Given the description of an element on the screen output the (x, y) to click on. 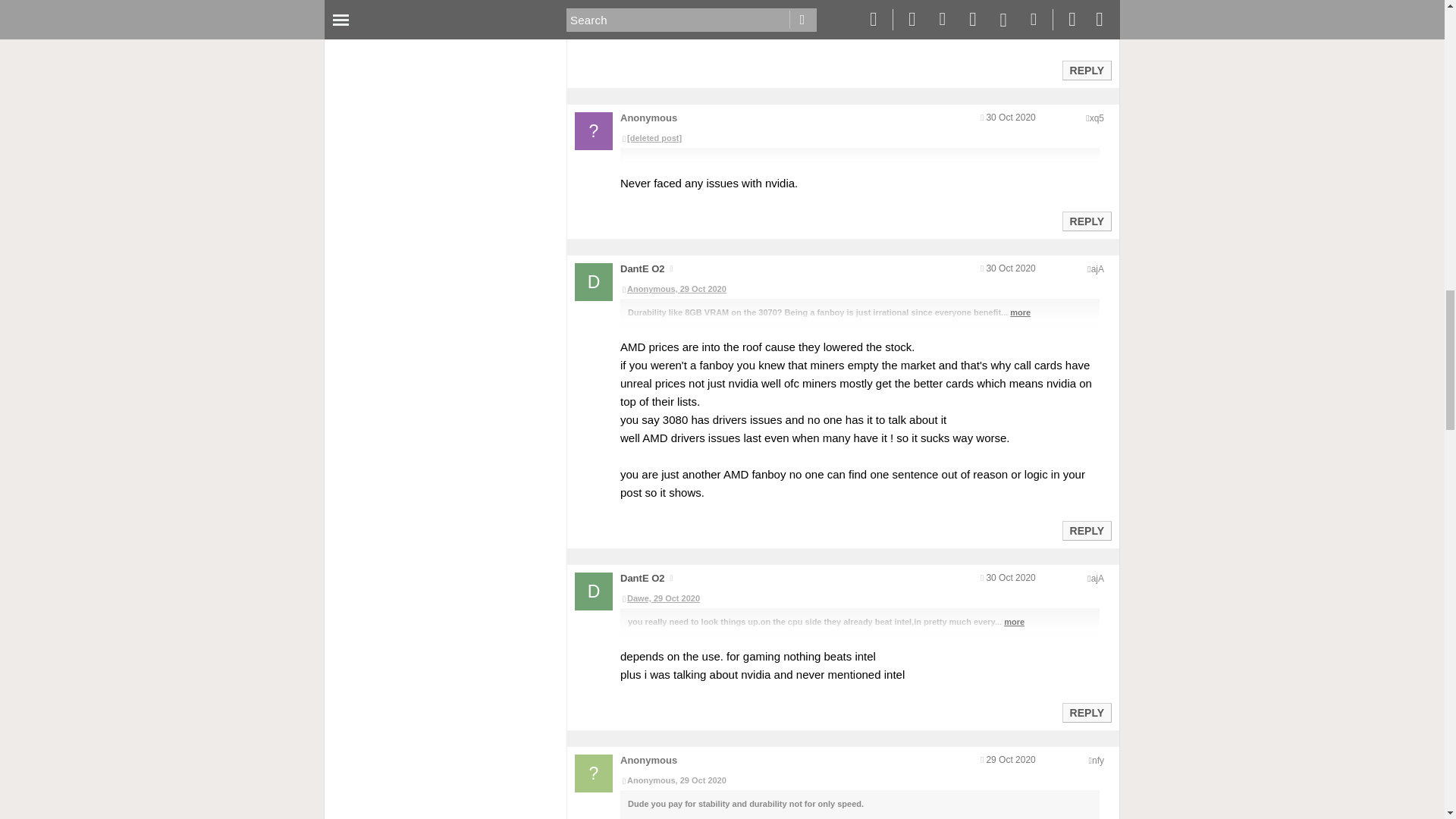
Reply to this post (1086, 221)
Reply to this post (1086, 70)
Reply to this post (1086, 530)
Encoded anonymized location (1096, 118)
Encoded anonymized location (1096, 268)
